Given the description of an element on the screen output the (x, y) to click on. 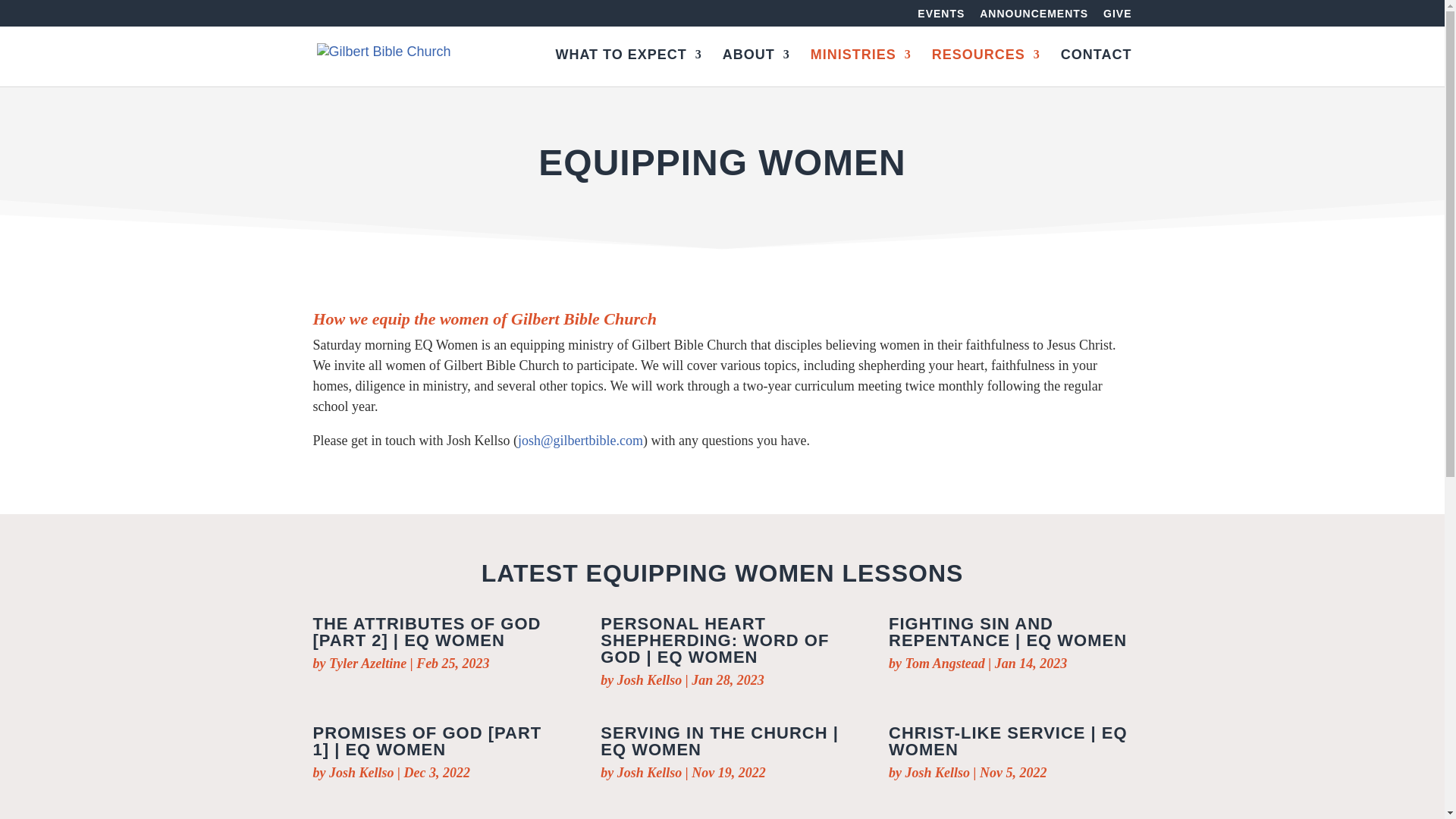
Tom Angstead (945, 663)
Posts by Tyler Azeltine (367, 663)
RESOURCES (986, 67)
Posts by Josh Kellso (649, 679)
Josh Kellso (649, 679)
Posts by Josh Kellso (938, 772)
Posts by Josh Kellso (649, 772)
EVENTS (940, 16)
ABOUT (756, 67)
MINISTRIES (860, 67)
